Given the description of an element on the screen output the (x, y) to click on. 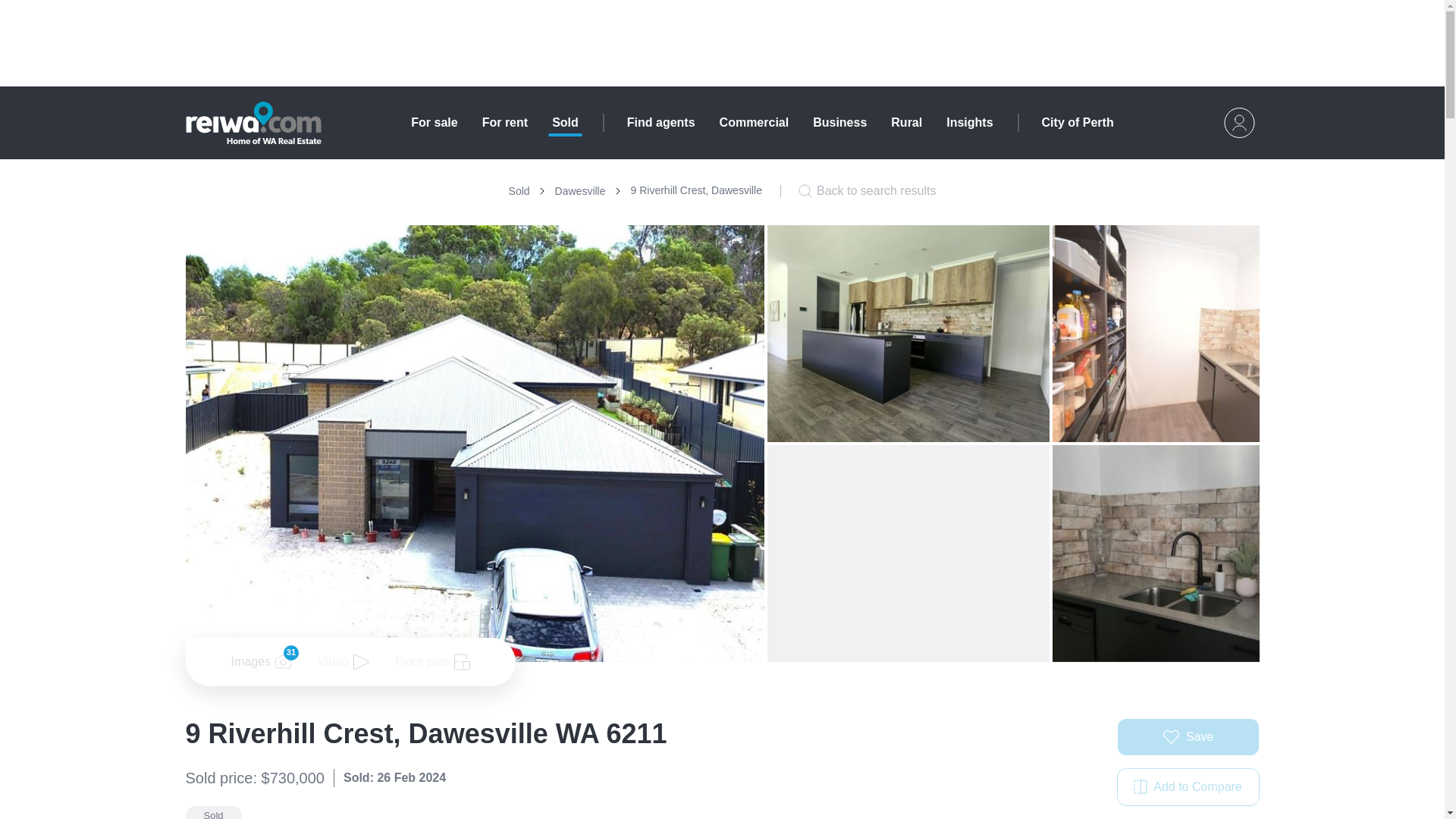
Dawesville (579, 191)
Add to Compare (644, 190)
City of Perth (1187, 786)
Find agents (1077, 122)
Business (661, 122)
For rent (839, 122)
Insights (504, 122)
Sold (969, 122)
Back to search results (518, 191)
Save (866, 190)
Sold (1187, 736)
For sale (564, 122)
Commercial (433, 122)
Video (754, 122)
